Given the description of an element on the screen output the (x, y) to click on. 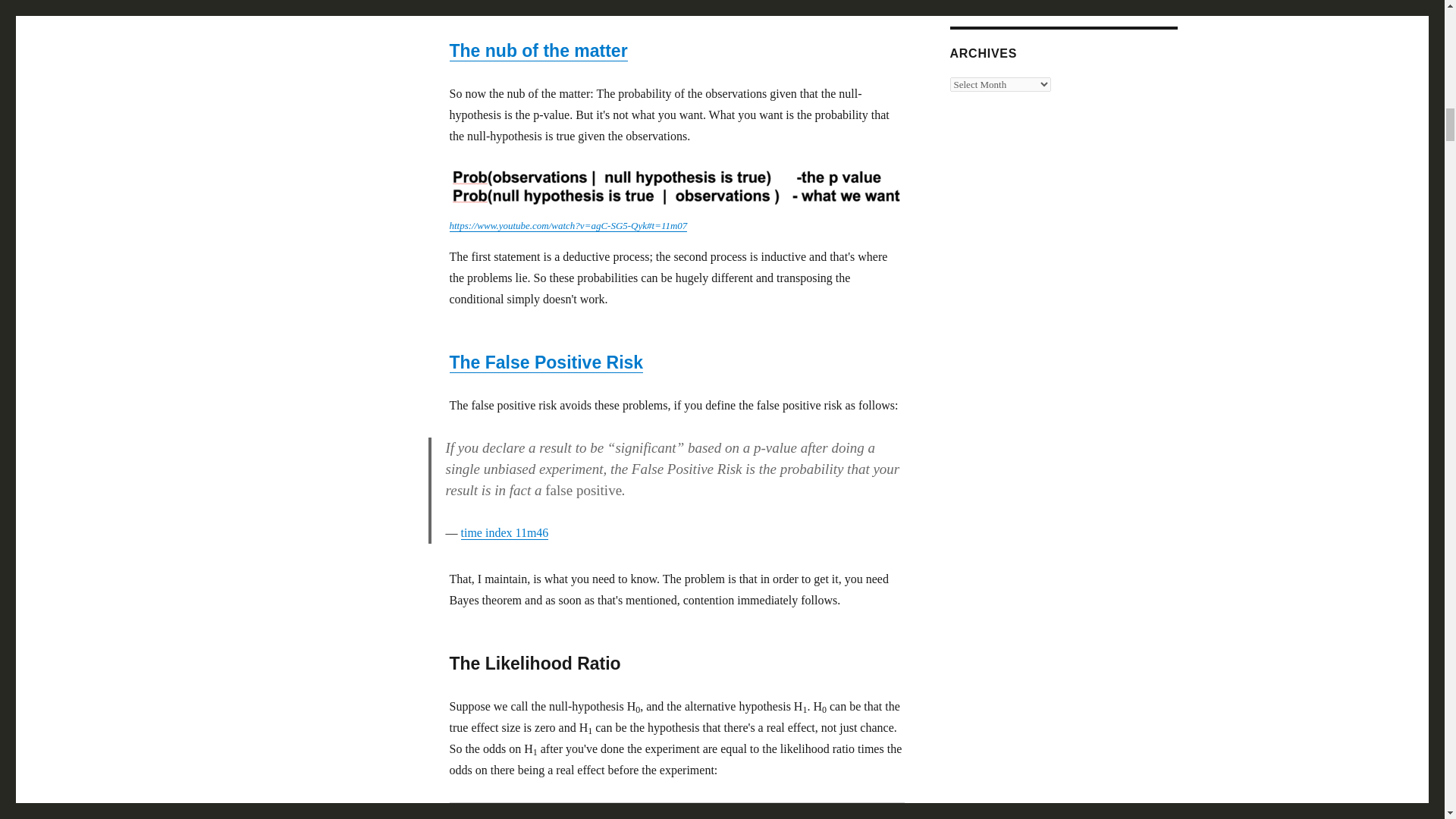
time index 11m46 (504, 532)
The nub of the matter (537, 50)
The False Positive Risk (545, 362)
